Given the description of an element on the screen output the (x, y) to click on. 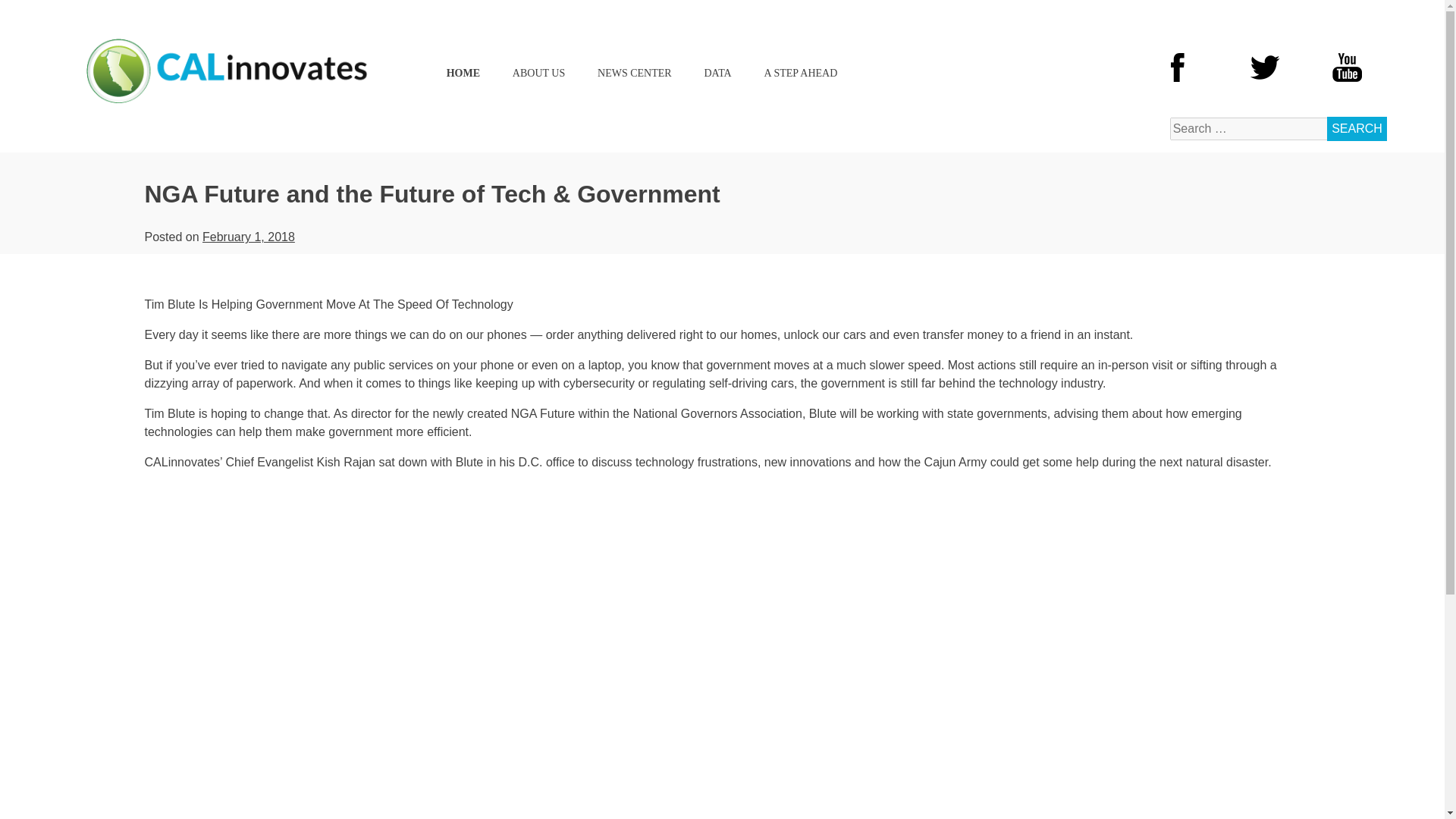
HOME (463, 73)
Search (1356, 128)
February 1, 2018 (248, 236)
A STEP AHEAD (801, 73)
NEWS CENTER (633, 73)
Search (1356, 128)
Search for: (1248, 128)
Search (1356, 128)
DATA (716, 73)
